Given the description of an element on the screen output the (x, y) to click on. 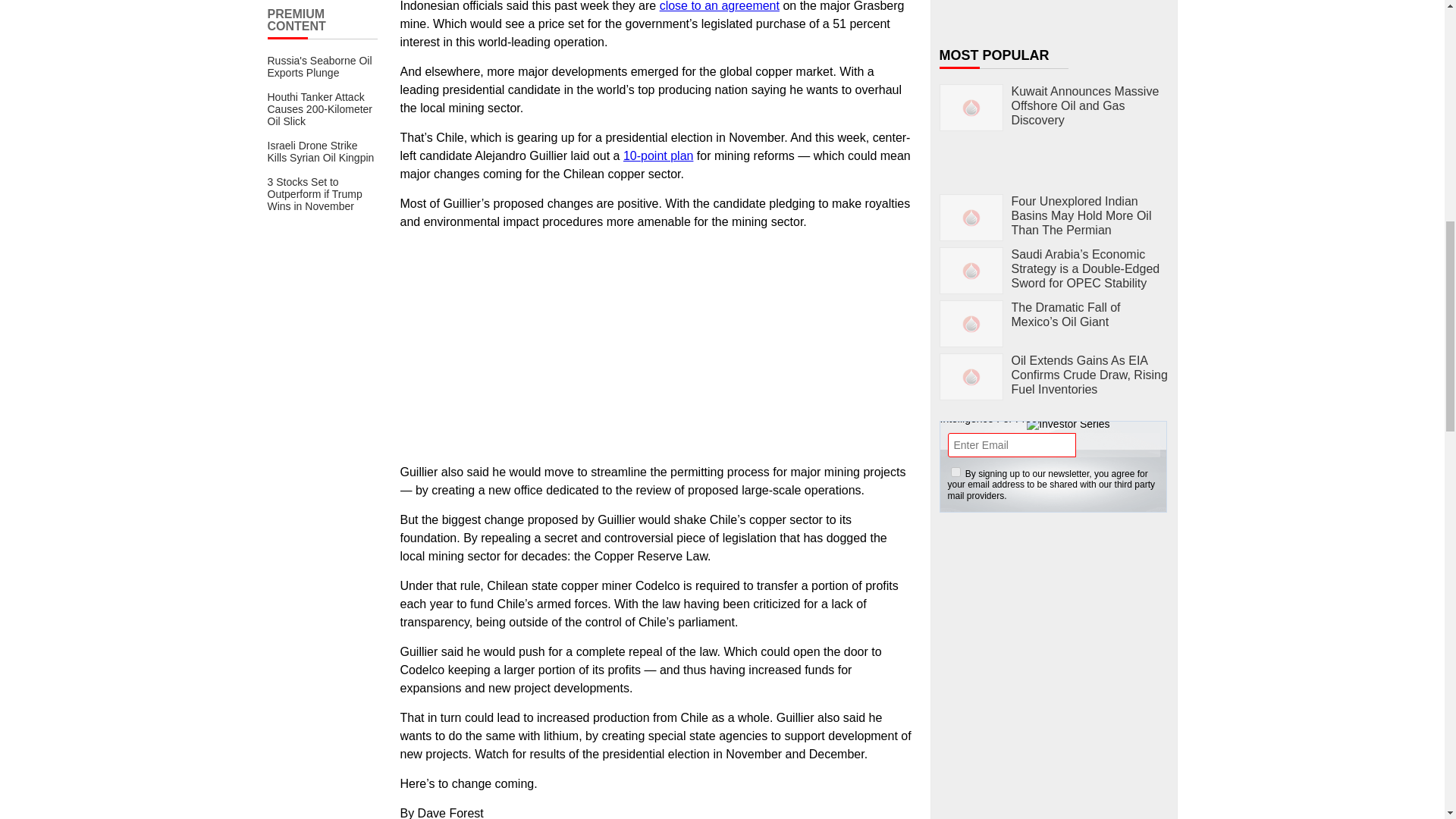
1 (955, 471)
